Given the description of an element on the screen output the (x, y) to click on. 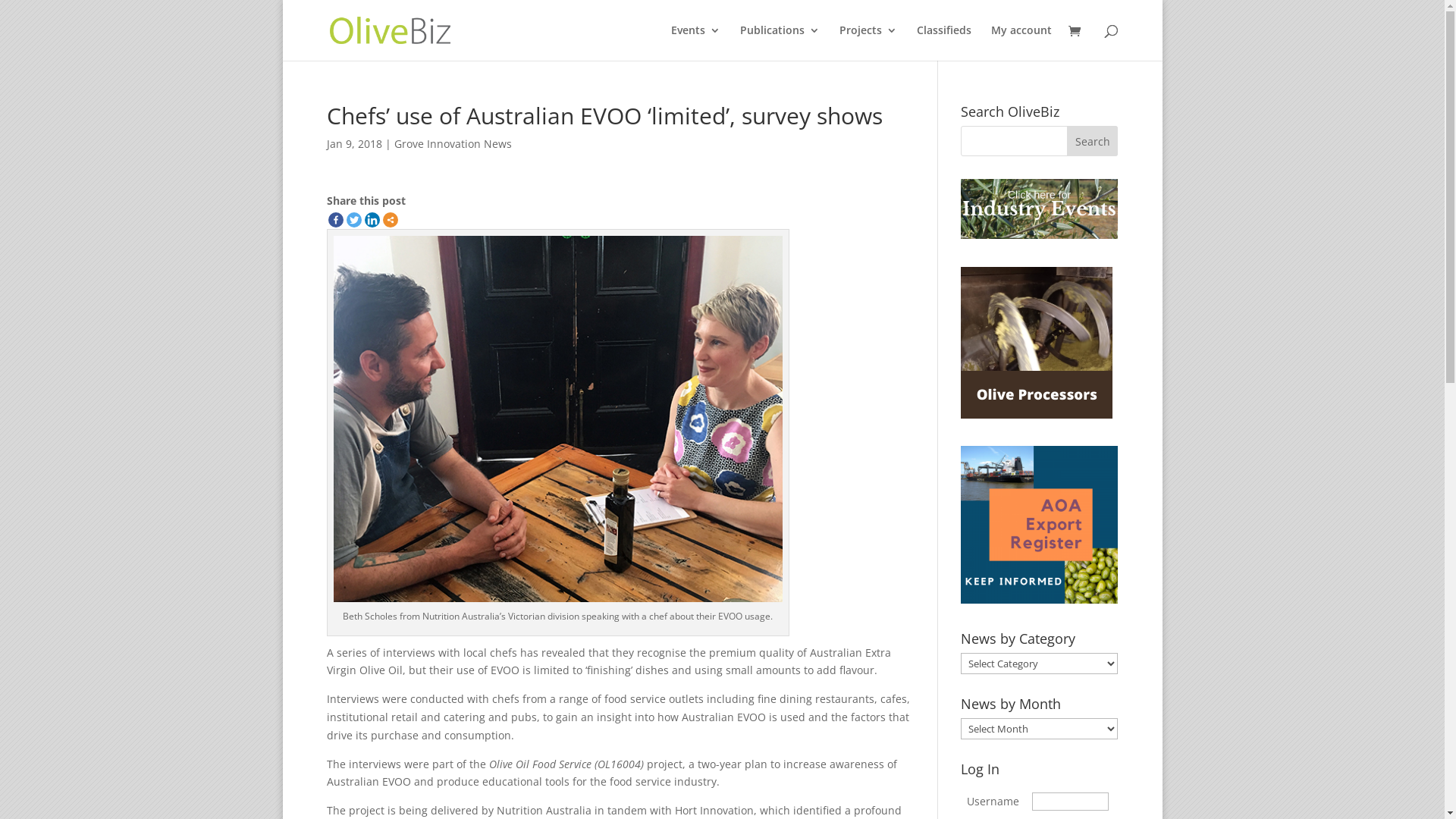
My account Element type: text (1020, 42)
Events Element type: text (694, 42)
Grove Innovation News Element type: text (452, 143)
More Element type: hover (389, 219)
Classifieds Element type: text (943, 42)
LinkedIn Element type: hover (371, 219)
Publications Element type: text (779, 42)
Search Element type: text (1092, 140)
Projects Element type: text (867, 42)
Facebook Element type: hover (334, 219)
Twitter Element type: hover (352, 219)
